Given the description of an element on the screen output the (x, y) to click on. 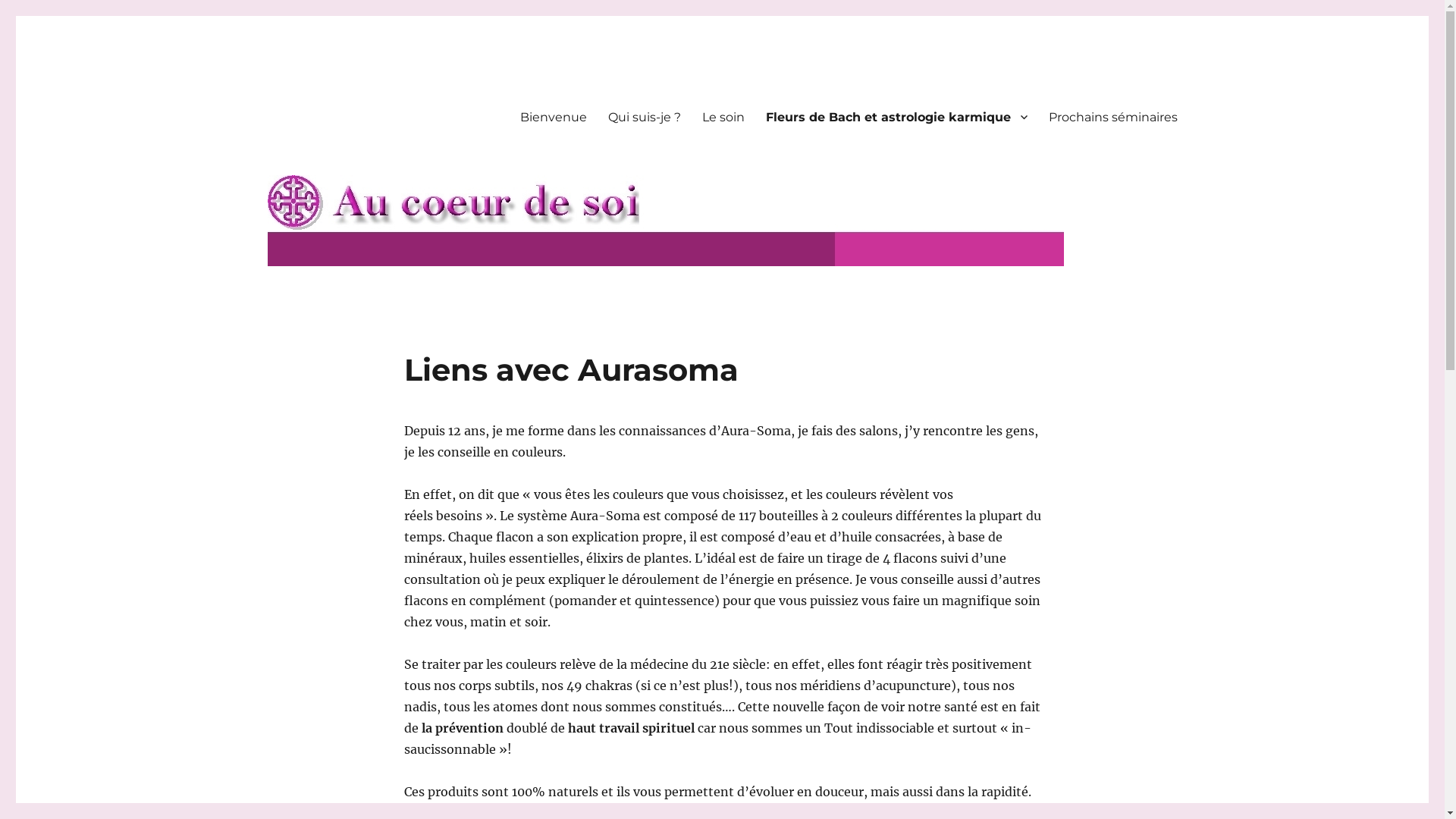
Fleurs de Bach et astrologie karmique Element type: text (896, 116)
Qui suis-je ? Element type: text (644, 116)
Le soin Element type: text (723, 116)
Au coeur de soi Element type: text (352, 92)
Bienvenue Element type: text (553, 116)
